Given the description of an element on the screen output the (x, y) to click on. 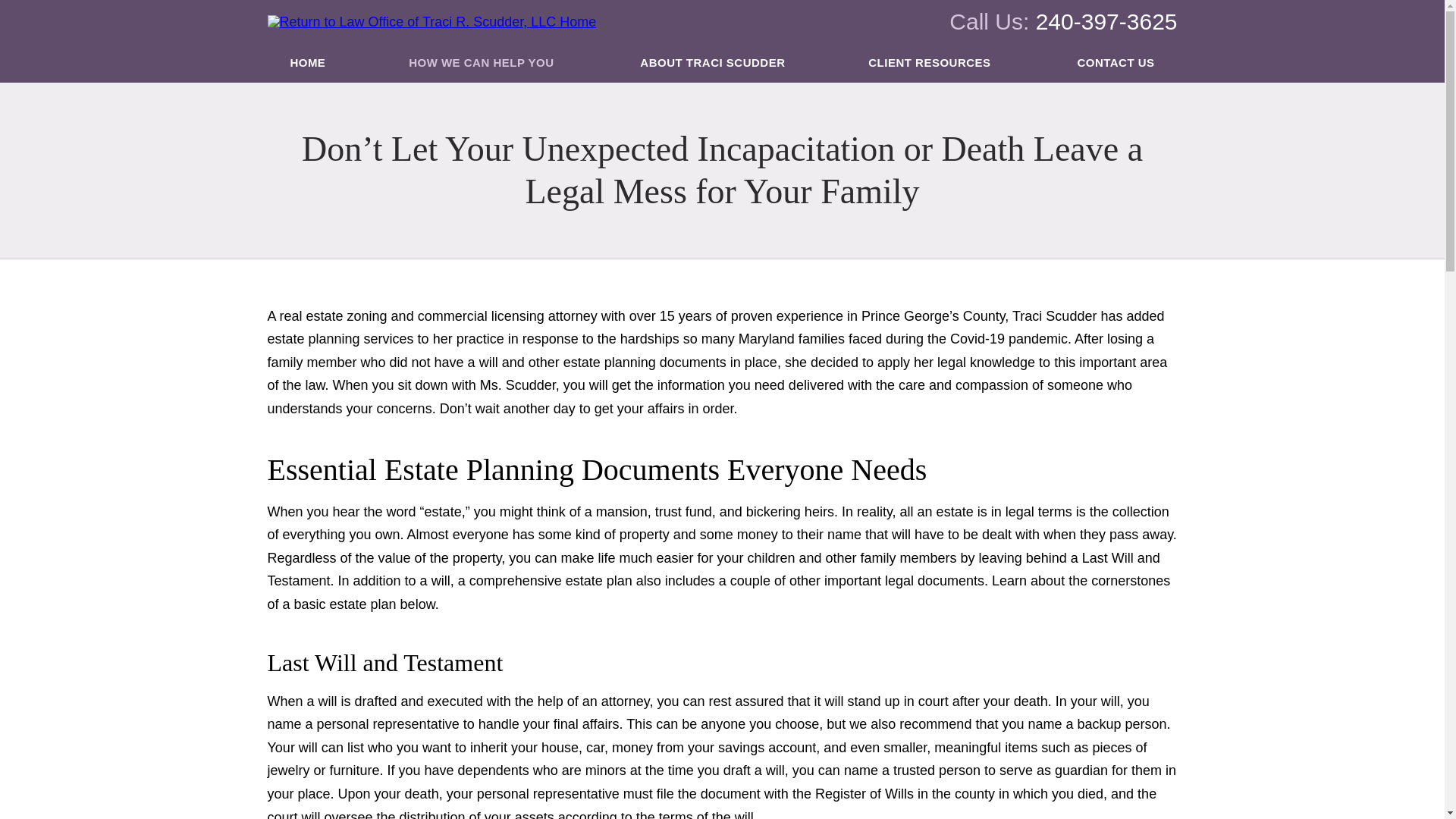
CLIENT RESOURCES (931, 63)
CONTACT US (1115, 63)
HOW WE CAN HELP YOU (482, 63)
HOME (308, 63)
ABOUT TRACI SCUDDER (712, 63)
